Given the description of an element on the screen output the (x, y) to click on. 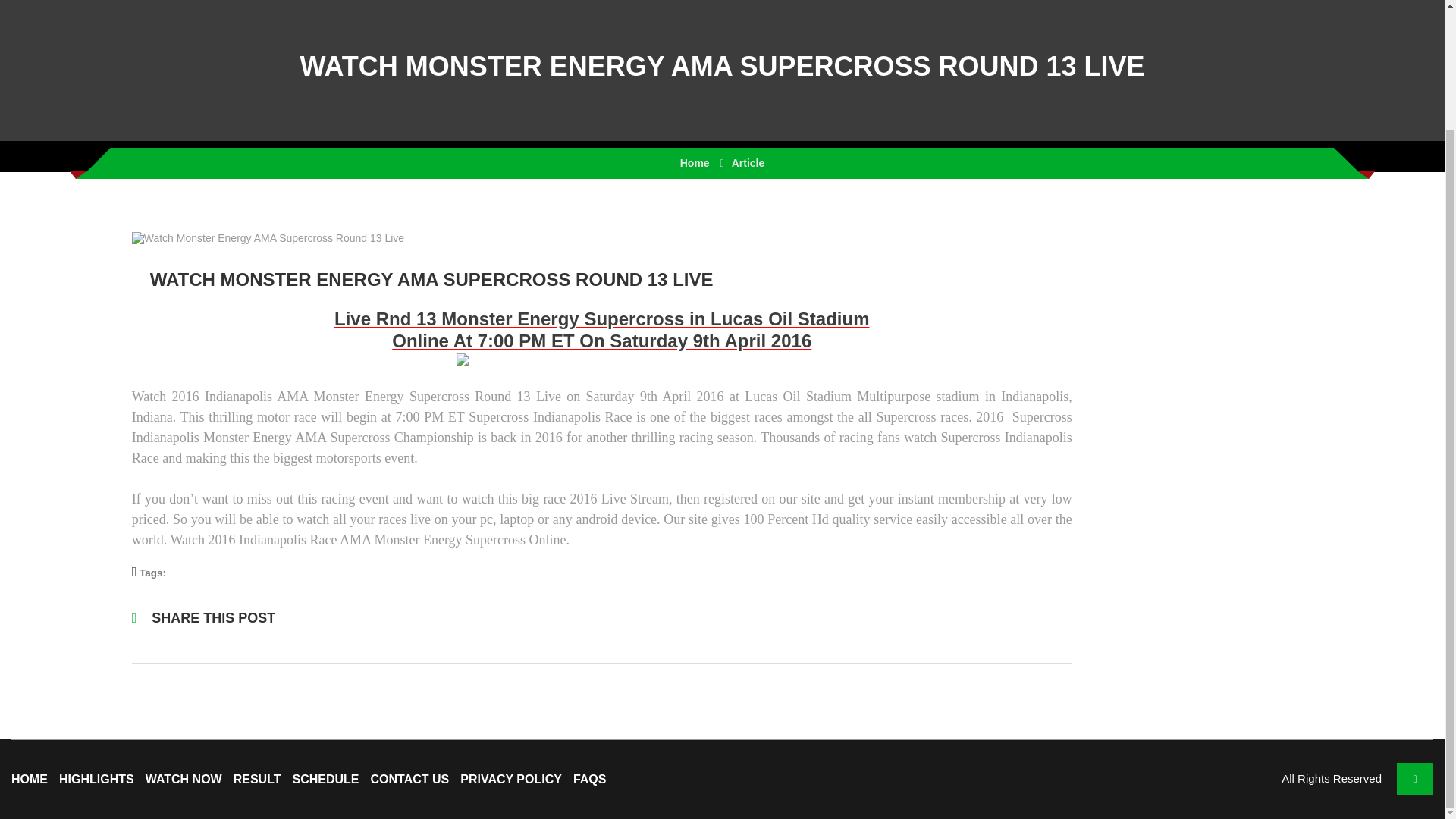
SCHEDULE (325, 779)
WATCH NOW (183, 779)
PRIVACY POLICY (511, 779)
Live Rnd 13 Monster Energy Supercross in Lucas Oil Stadium (601, 318)
HIGHLIGHTS (96, 779)
CONTACT US (410, 779)
RESULT (256, 779)
Home (694, 162)
Online At 7:00 PM ET On Saturday 9th April 2016 (600, 340)
FAQS (590, 779)
HOME (29, 779)
